Given the description of an element on the screen output the (x, y) to click on. 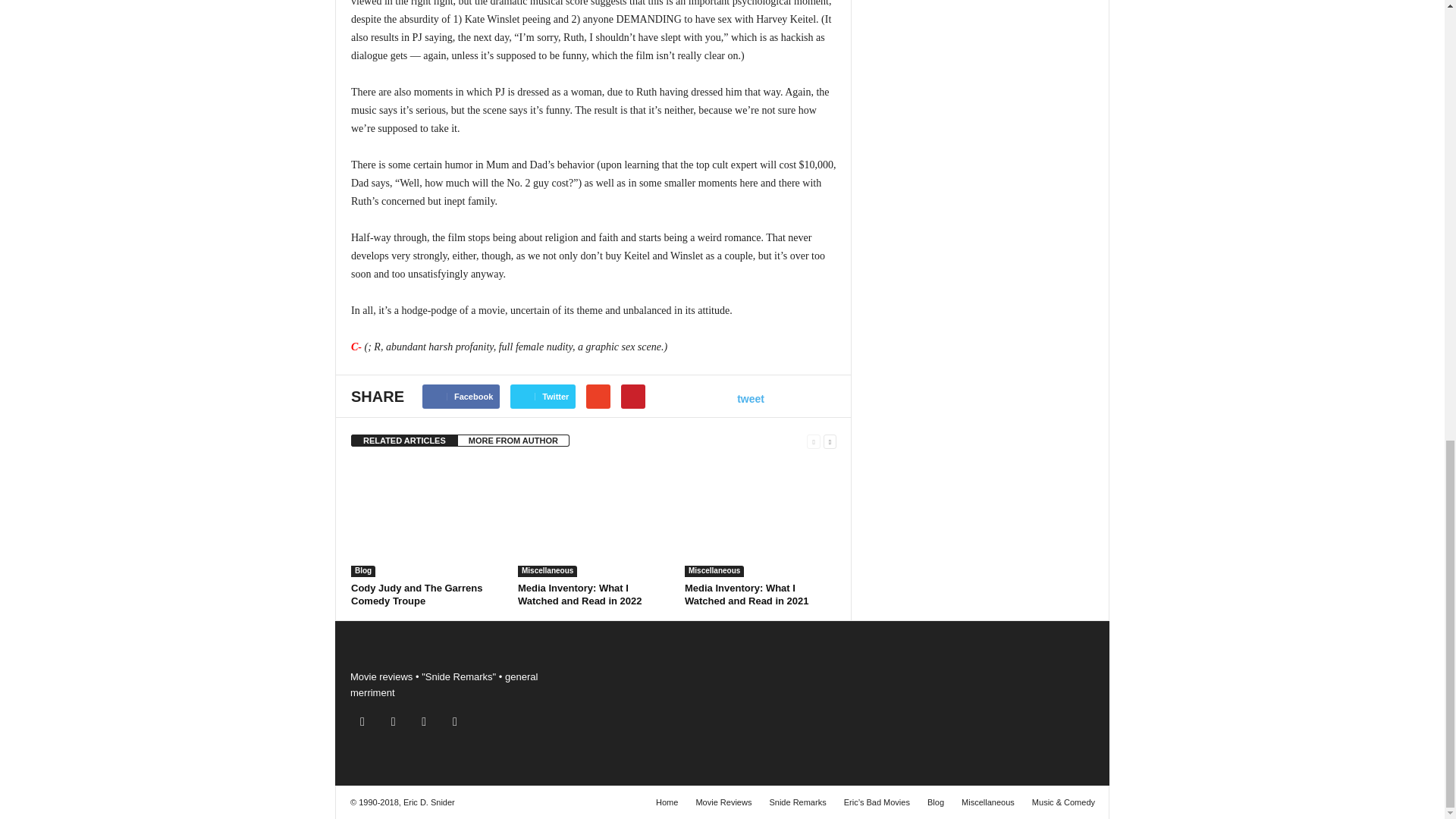
Cody Judy and The Garrens Comedy Troupe (415, 594)
Media Inventory: What I Watched and Read in 2022 (593, 520)
Cody Judy and The Garrens Comedy Troupe (426, 520)
Media Inventory: What I Watched and Read in 2021 (746, 594)
Media Inventory: What I Watched and Read in 2021 (759, 520)
Media Inventory: What I Watched and Read in 2022 (580, 594)
